Given the description of an element on the screen output the (x, y) to click on. 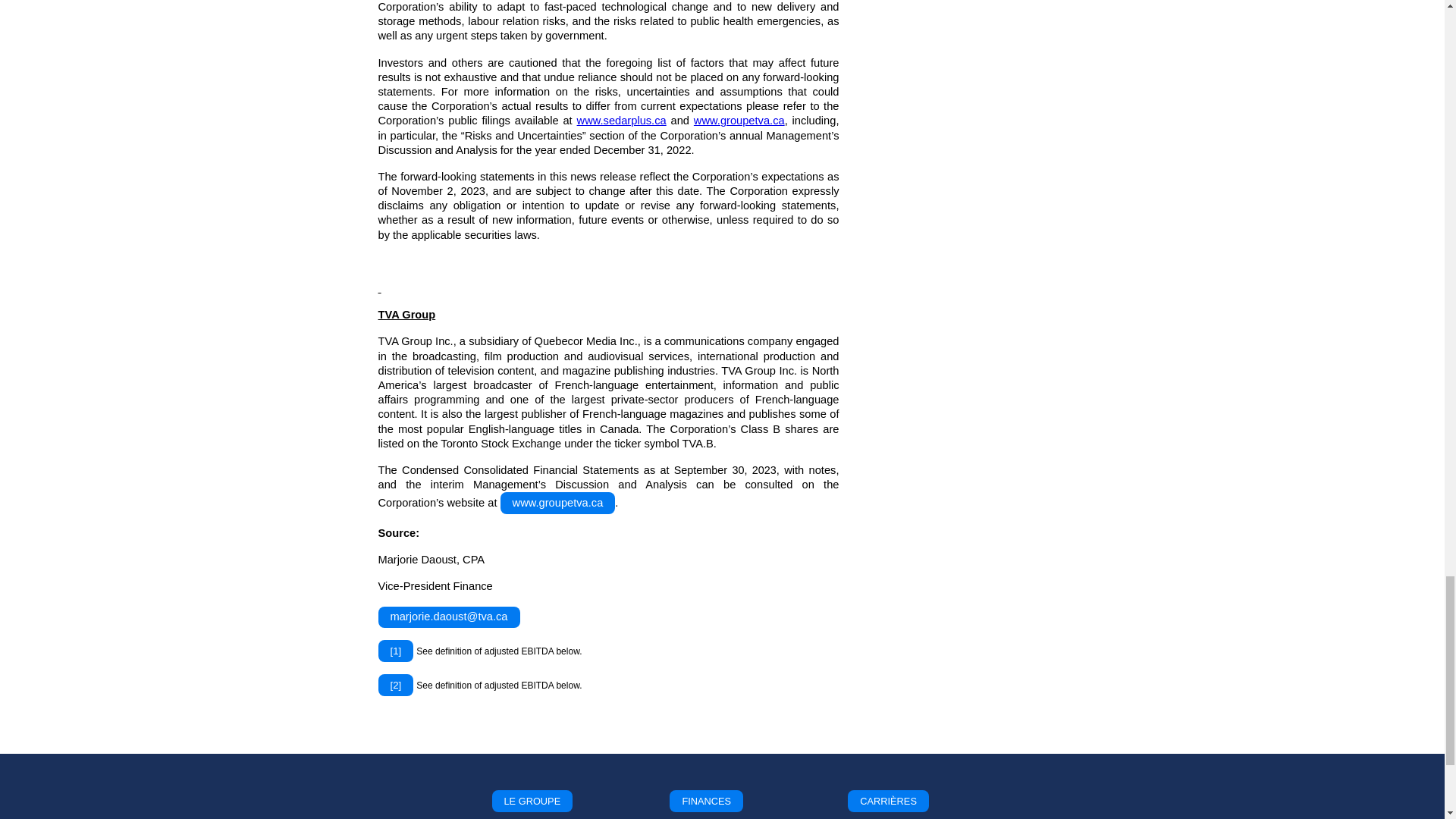
www.sedarplus.ca (621, 120)
www.groupetva.ca (739, 120)
www.groupetva.ca (557, 503)
